Given the description of an element on the screen output the (x, y) to click on. 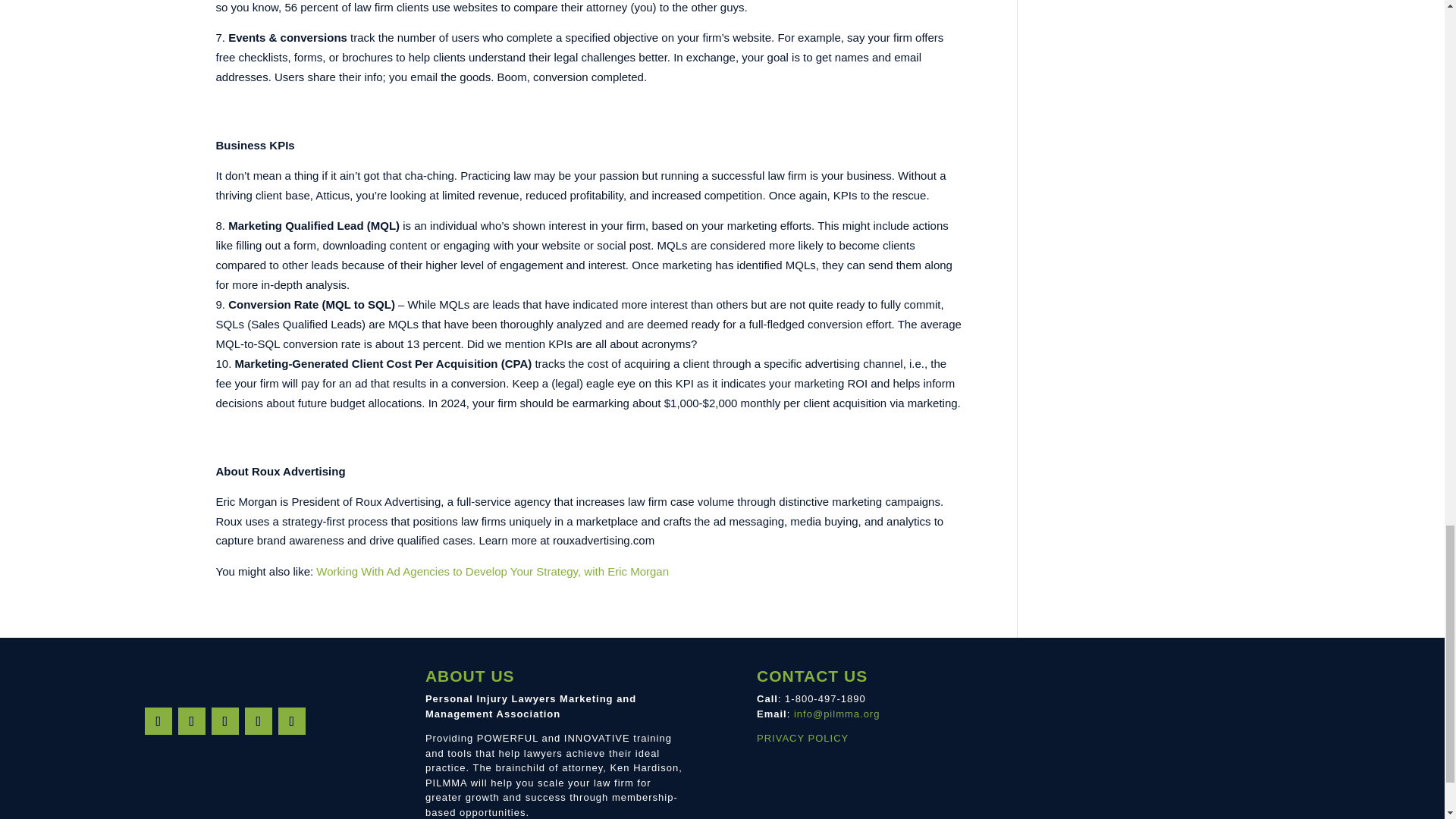
Follow on Youtube (291, 720)
Follow on LinkedIn (258, 720)
PRIVACY POLICY (802, 737)
Follow on X (224, 720)
Follow on Facebook (157, 720)
Pilmma Logo (225, 674)
Follow on Instagram (191, 720)
